Given the description of an element on the screen output the (x, y) to click on. 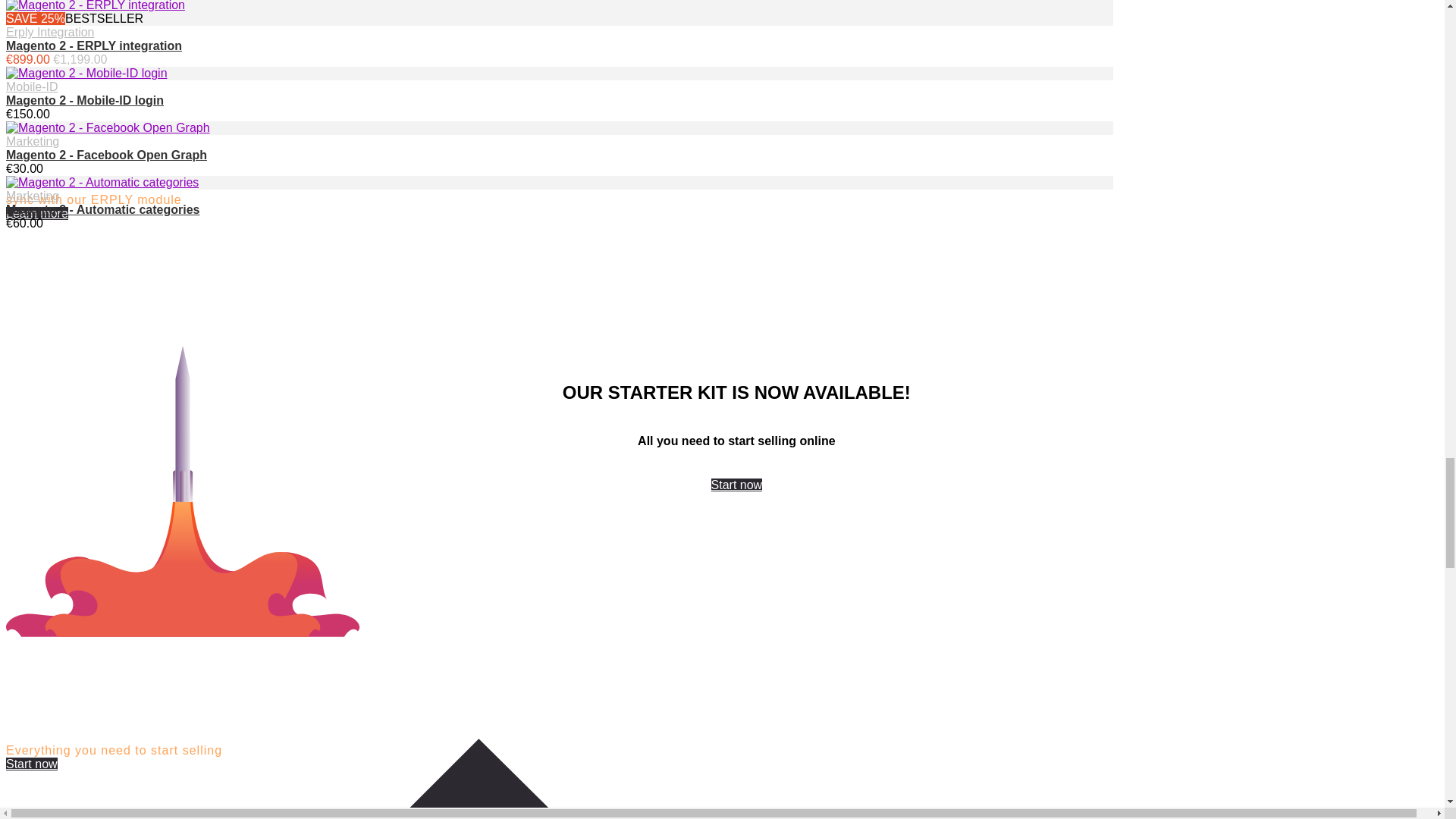
Magento 2 - Facebook Open Graph (105, 154)
Magento 2 - ERPLY integration (93, 45)
Magento 2 - Mobile-ID login (84, 100)
Magento 2 - Automatic categories (102, 209)
